Given the description of an element on the screen output the (x, y) to click on. 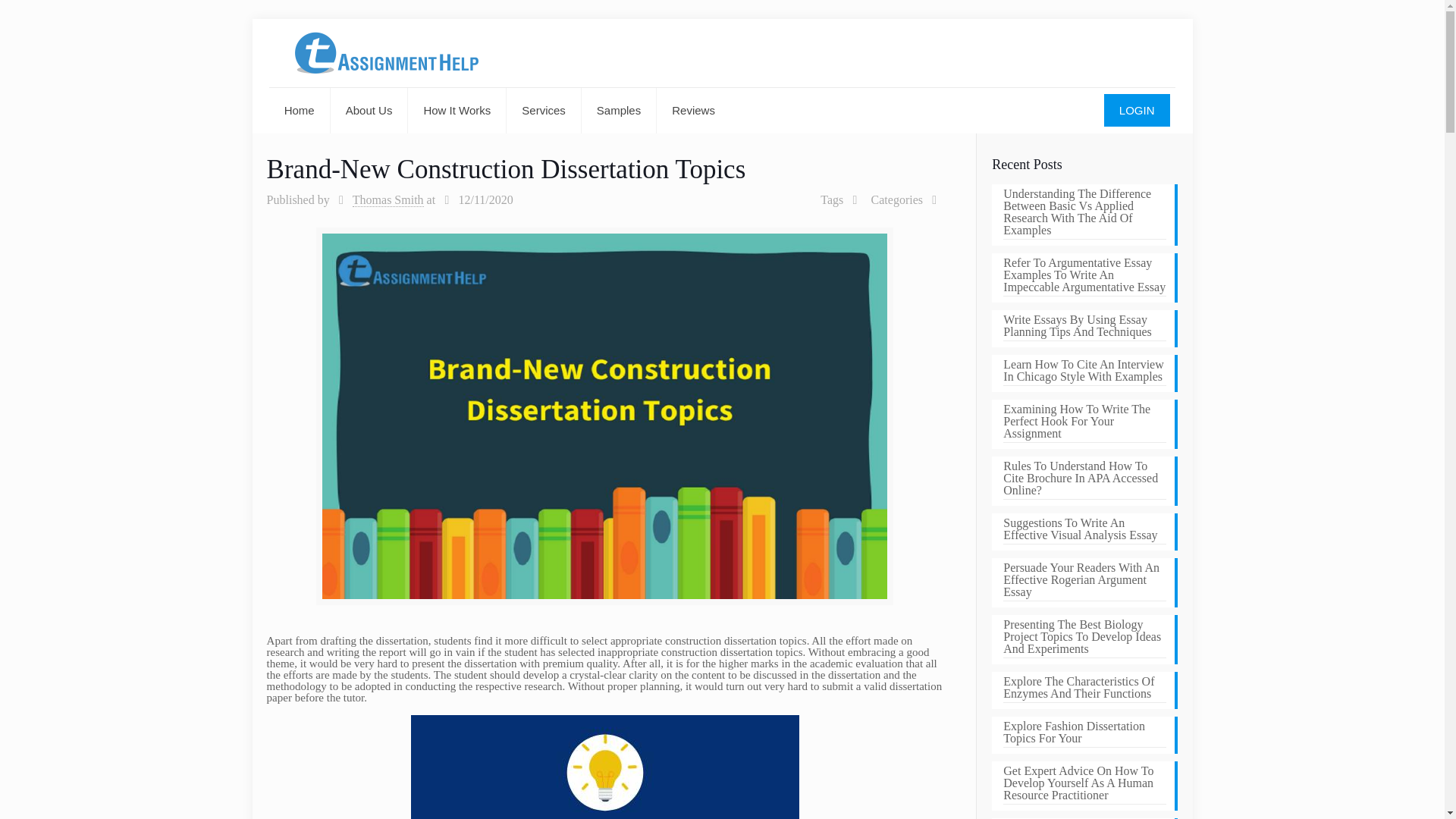
Services (543, 110)
How It Works (456, 110)
Home (299, 110)
Samples (618, 110)
Reviews (693, 110)
LOGIN (1136, 110)
Thomas Smith (387, 200)
About Us (369, 110)
Write Essays By Using Essay Planning Tips And Techniques (1084, 327)
